Given the description of an element on the screen output the (x, y) to click on. 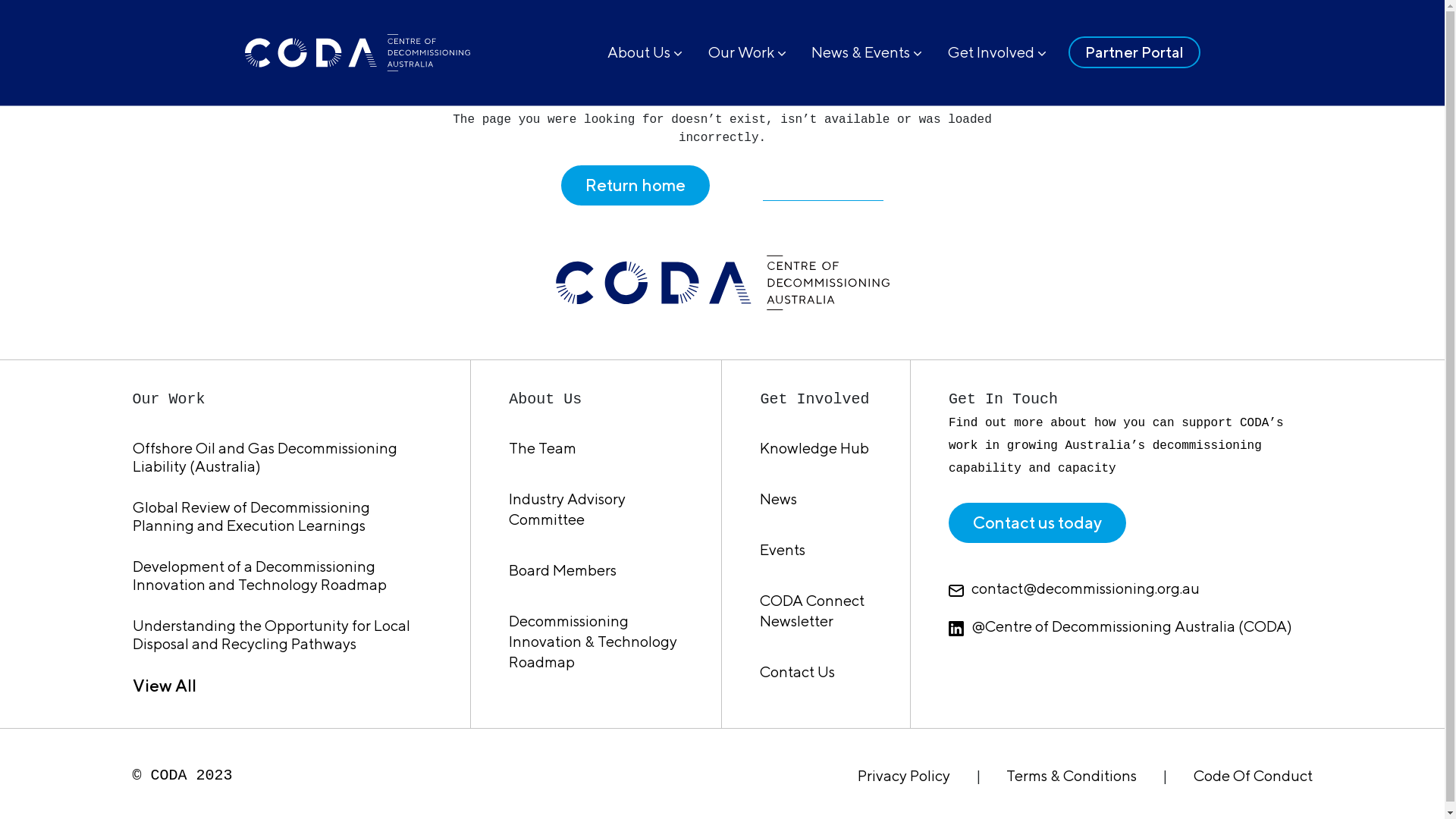
About Us Element type: text (638, 51)
Our Work Element type: text (741, 51)
Industry Advisory Committee Element type: text (566, 508)
Get Involved Element type: text (990, 51)
News Element type: text (778, 498)
News & Events Element type: text (860, 51)
View All Element type: text (163, 685)
Contact us today Element type: text (1037, 522)
Privacy Policy Element type: text (903, 775)
Contact Us Element type: text (796, 671)
Events Element type: text (782, 549)
Knowledge Hub Element type: text (814, 447)
CODA Connect Newsletter Element type: text (811, 610)
Decommissioning Innovation & Technology Roadmap Element type: text (592, 640)
| Element type: text (978, 775)
Code Of Conduct Element type: text (1252, 775)
Return home Element type: text (635, 185)
contact@decommissioning.org.au Element type: text (1130, 588)
@Centre of Decommissioning Australia (CODA) Element type: text (1130, 626)
Offshore Oil and Gas Decommissioning Liability (Australia) Element type: text (263, 456)
Home Element type: text (281, 8)
Board Members Element type: text (562, 569)
Terms & Conditions Element type: text (1071, 775)
| Element type: text (1164, 775)
The Team Element type: text (542, 447)
Get In touch Element type: text (822, 188)
Partner Portal Element type: text (1133, 51)
